Given the description of an element on the screen output the (x, y) to click on. 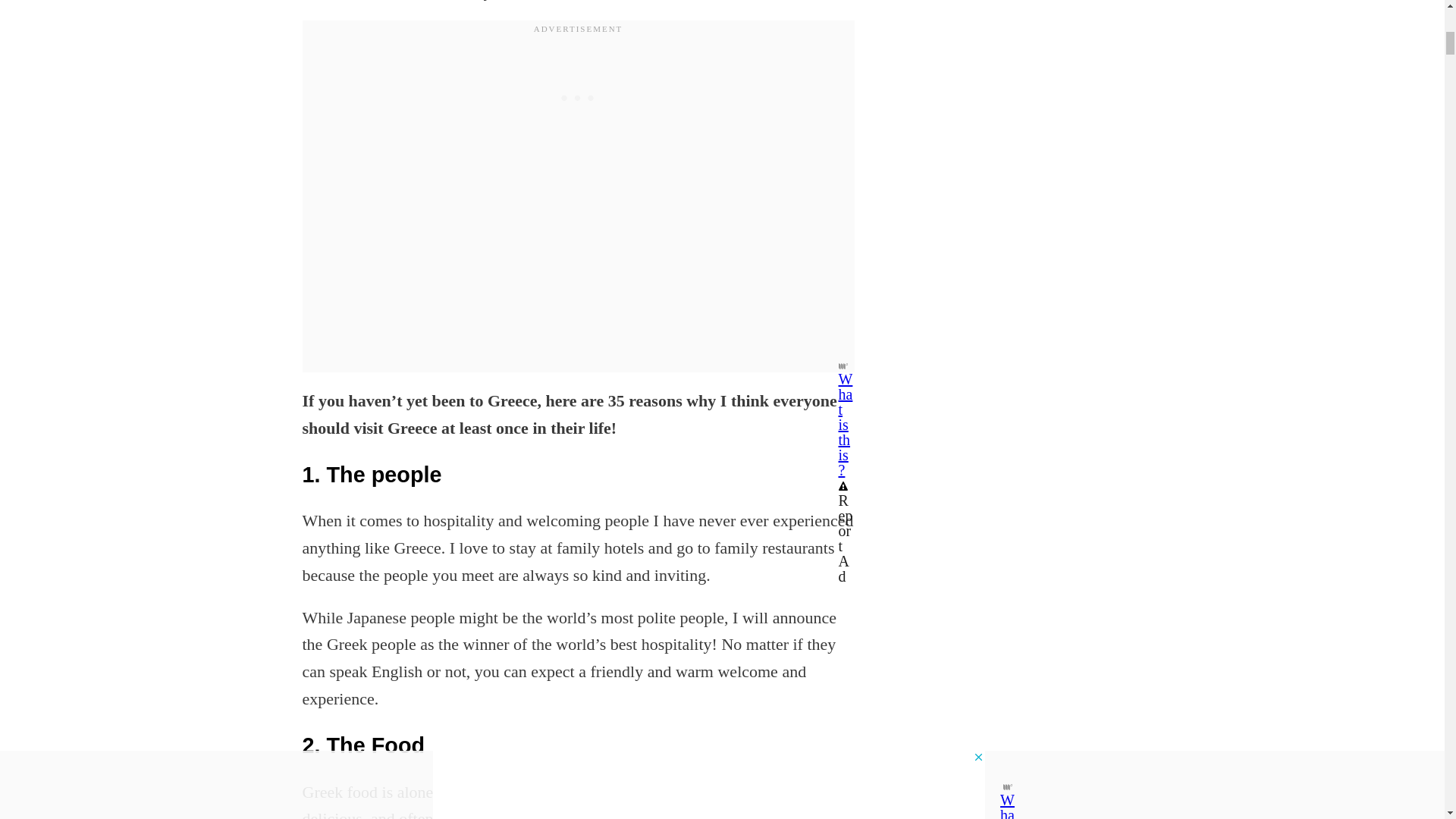
3rd party ad content (577, 57)
3rd party ad content (1040, 80)
